Given the description of an element on the screen output the (x, y) to click on. 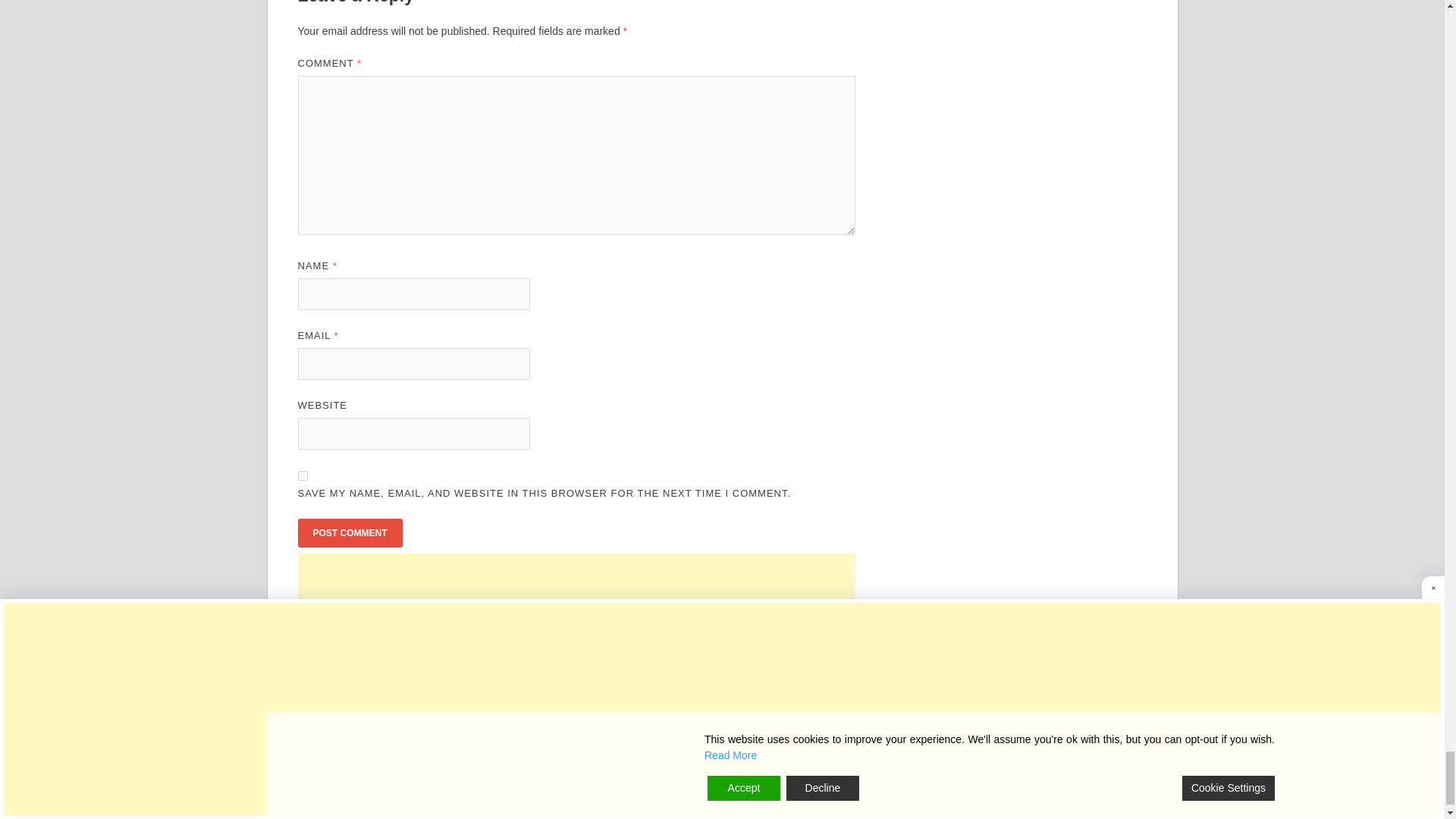
Post Comment (349, 532)
yes (302, 475)
